Given the description of an element on the screen output the (x, y) to click on. 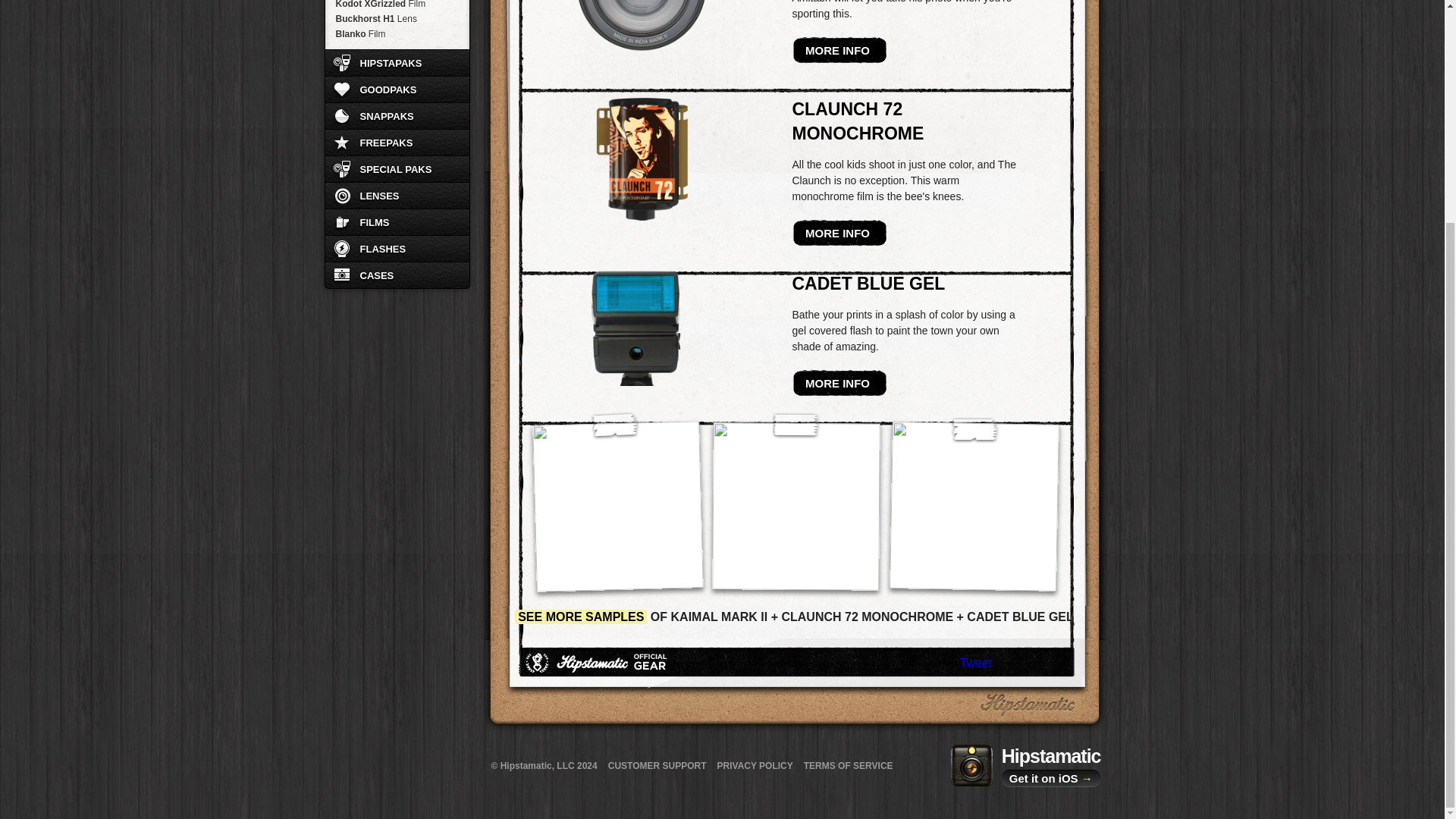
Kodot XGrizzled Film (396, 5)
HIPSTAPAKS (397, 62)
Blanko Film (396, 33)
Buckhorst H1 Lens (396, 18)
